Given the description of an element on the screen output the (x, y) to click on. 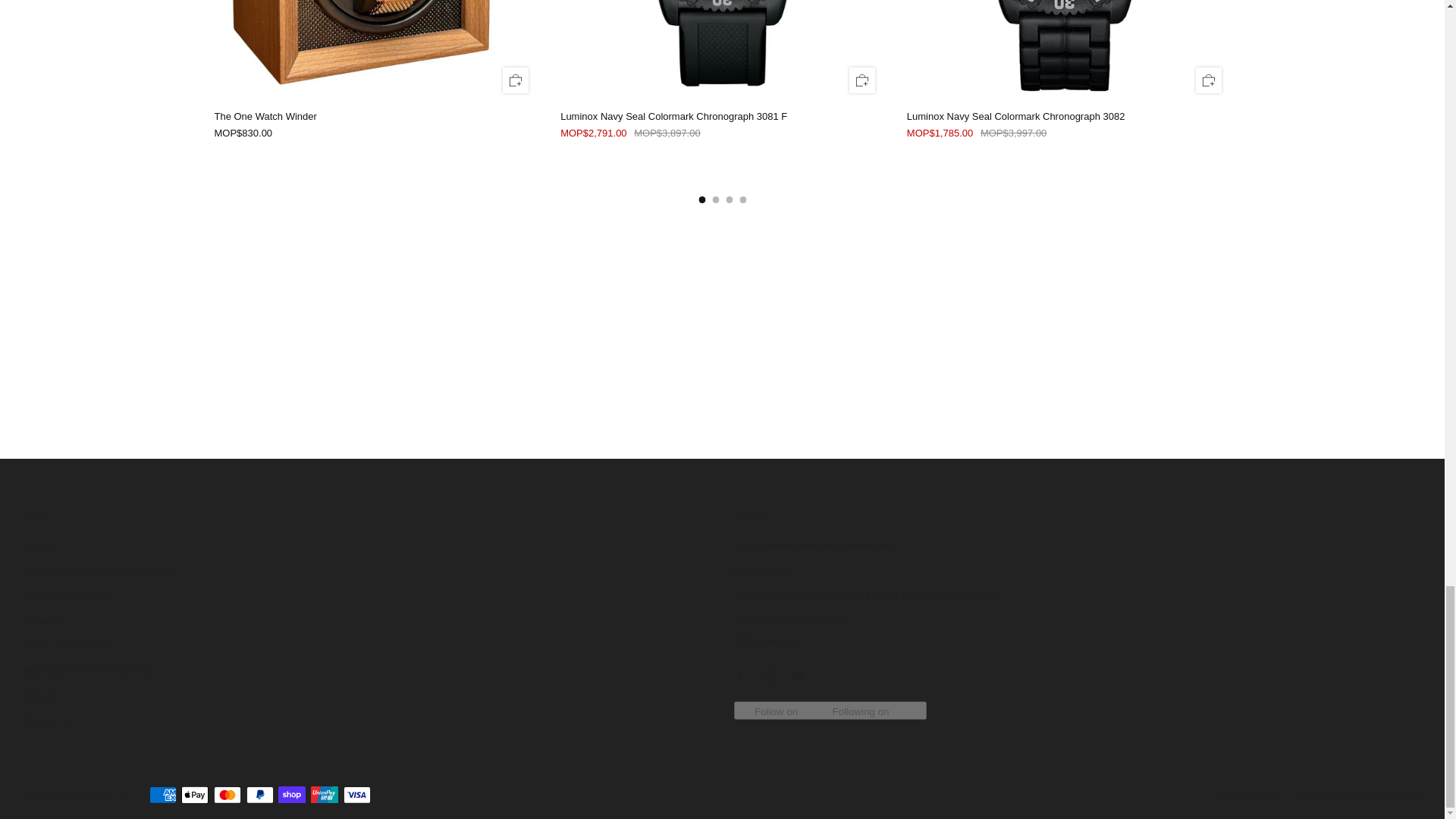
The One Watch Winder (375, 132)
Luminox Navy Seal Colormark Chronograph 3081 F (721, 132)
American Express (162, 794)
Apple Pay (194, 794)
The One Watch Winder (375, 116)
Union Pay (324, 794)
Mastercard (227, 794)
PayPal (259, 794)
Luminox Navy Seal Colormark Chronograph 3082 (1068, 116)
Shop Pay (291, 794)
Visa (357, 794)
Luminox Navy Seal Colormark Chronograph 3081 F (721, 116)
Luminox Navy Seal Colormark Chronograph 3082 (1068, 132)
